Given the description of an element on the screen output the (x, y) to click on. 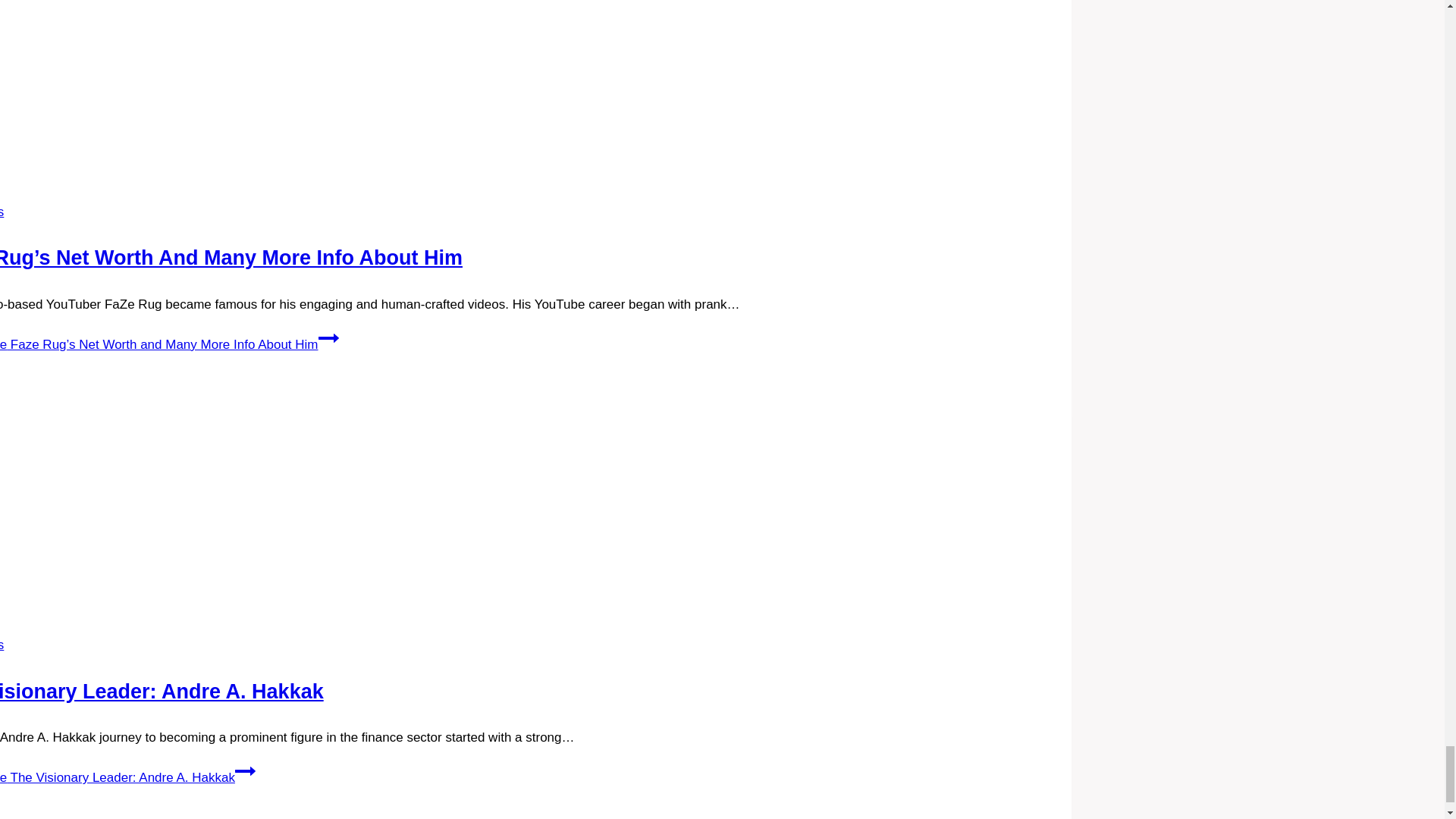
Continue (245, 771)
Continue (328, 337)
